Given the description of an element on the screen output the (x, y) to click on. 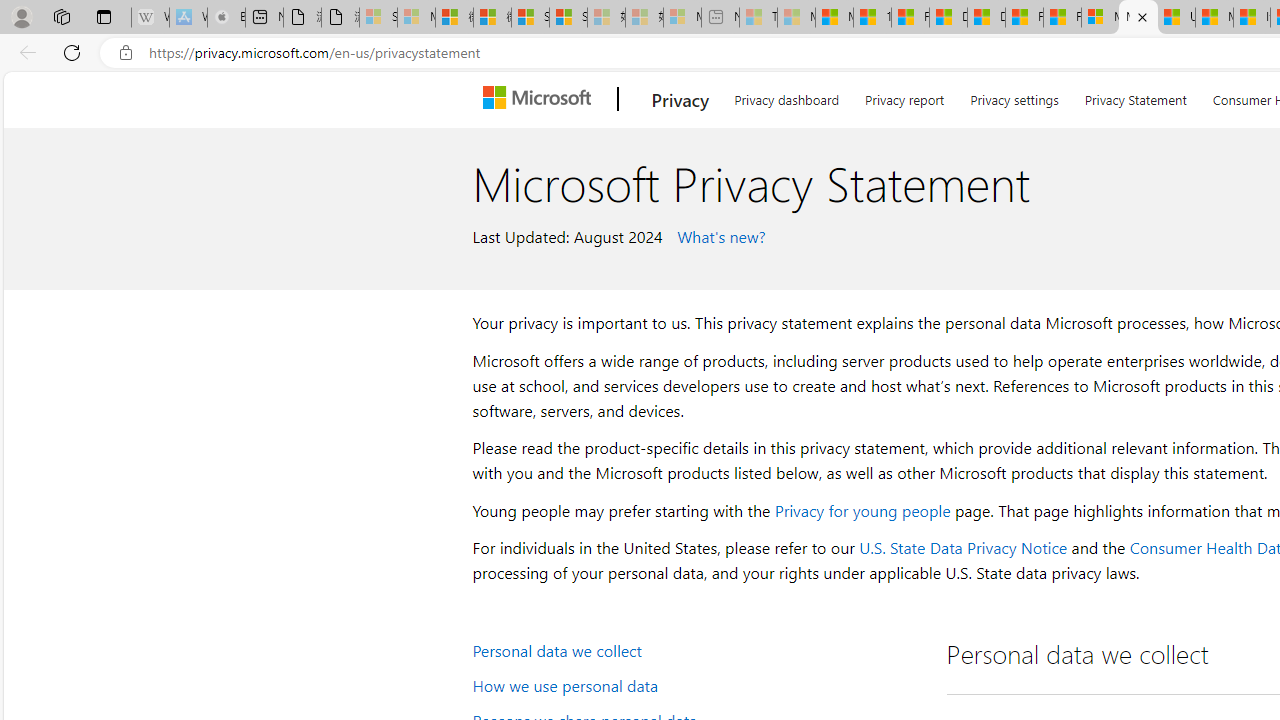
Microsoft (541, 99)
Privacy for young people (862, 509)
Privacy settings (1014, 96)
Marine life - MSN - Sleeping (796, 17)
U.S. State Data Privacy Notice (962, 547)
Privacy dashboard (786, 96)
Microsoft account | Account Checkup - Sleeping (682, 17)
Food and Drink - MSN (910, 17)
